Given the description of an element on the screen output the (x, y) to click on. 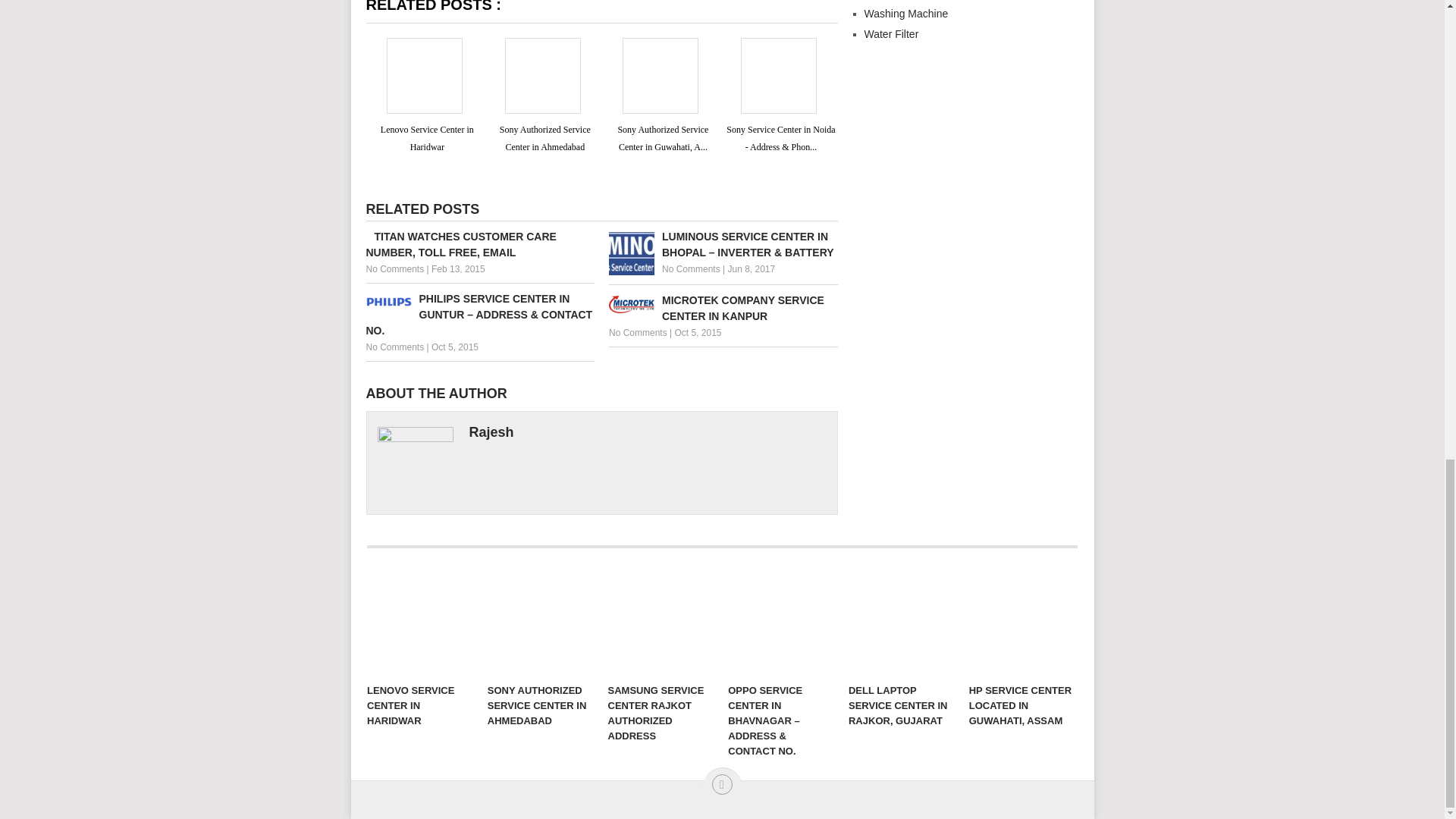
Microtek Company Service Center in Kanpur (723, 308)
Sony Authorized Service Center in Ahmedabad (545, 138)
Lenovo Service Center in Haridwar (419, 622)
No Comments (691, 268)
Titan Watches Customer Care Number, Toll Free, Email (479, 245)
Sony Authorized Service Center in Guwahati, A... (662, 138)
Samsung Service Center Rajkot Authorized Address (661, 622)
No Comments (394, 268)
Sony Authorized Service Center in Ahmedabad (540, 622)
TITAN WATCHES CUSTOMER CARE NUMBER, TOLL FREE, EMAIL (479, 245)
